Given the description of an element on the screen output the (x, y) to click on. 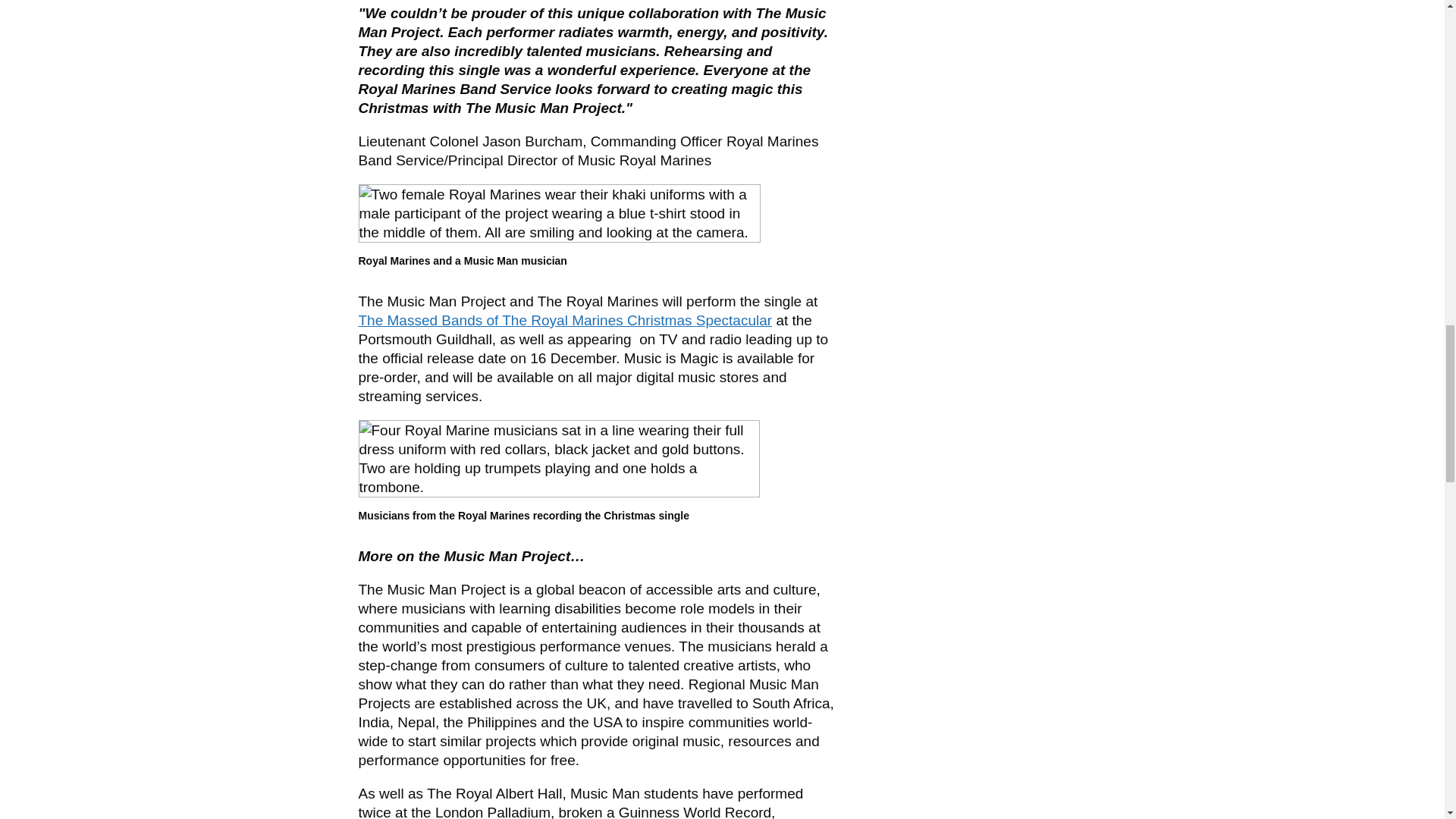
The Massed Bands of The Royal Marines Christmas Spectacular (564, 320)
